Given the description of an element on the screen output the (x, y) to click on. 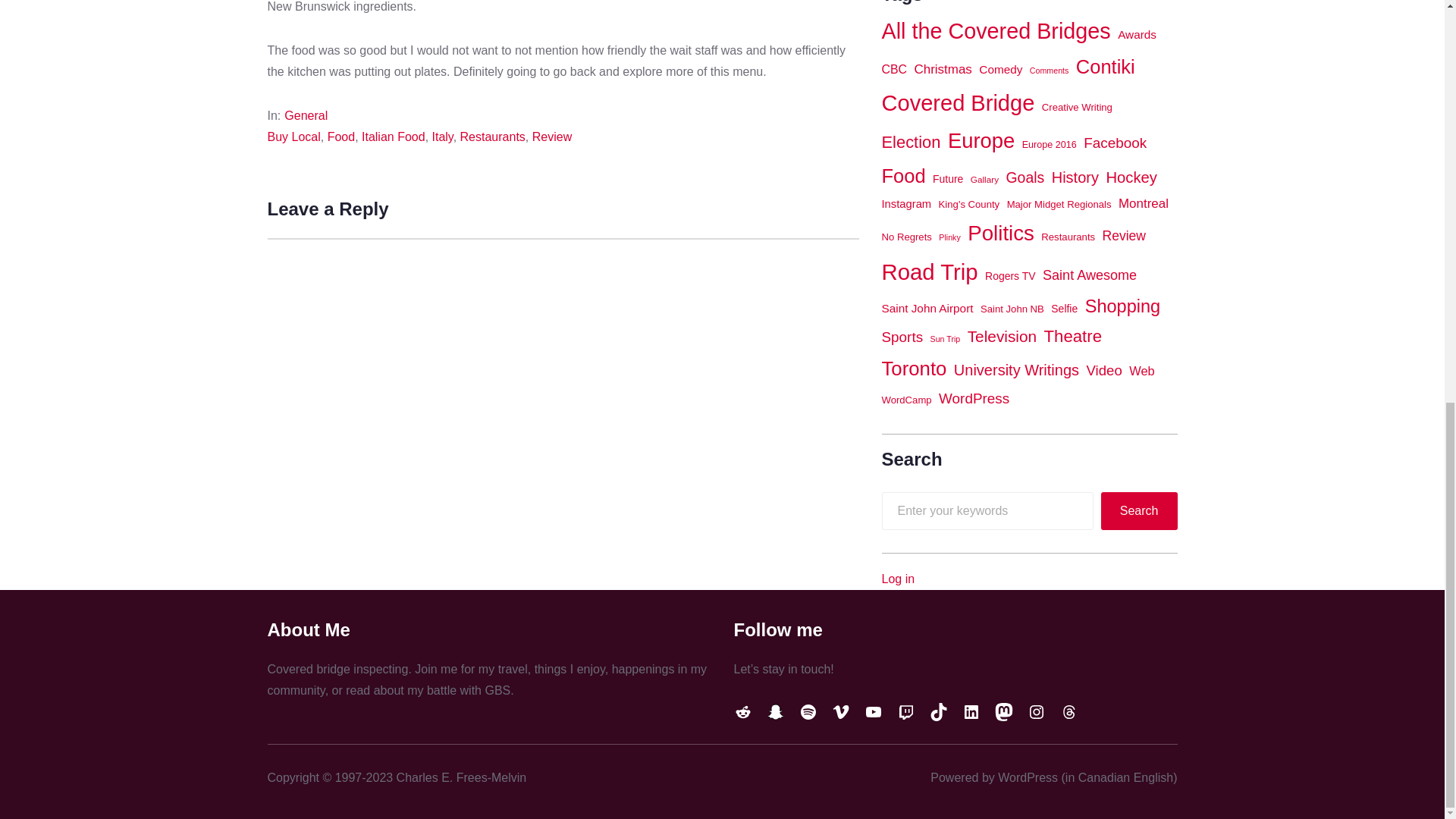
Food (341, 136)
General (305, 115)
Restaurants (492, 136)
Review (552, 136)
Italian Food (393, 136)
Buy Local (293, 136)
Italy (442, 136)
